Given the description of an element on the screen output the (x, y) to click on. 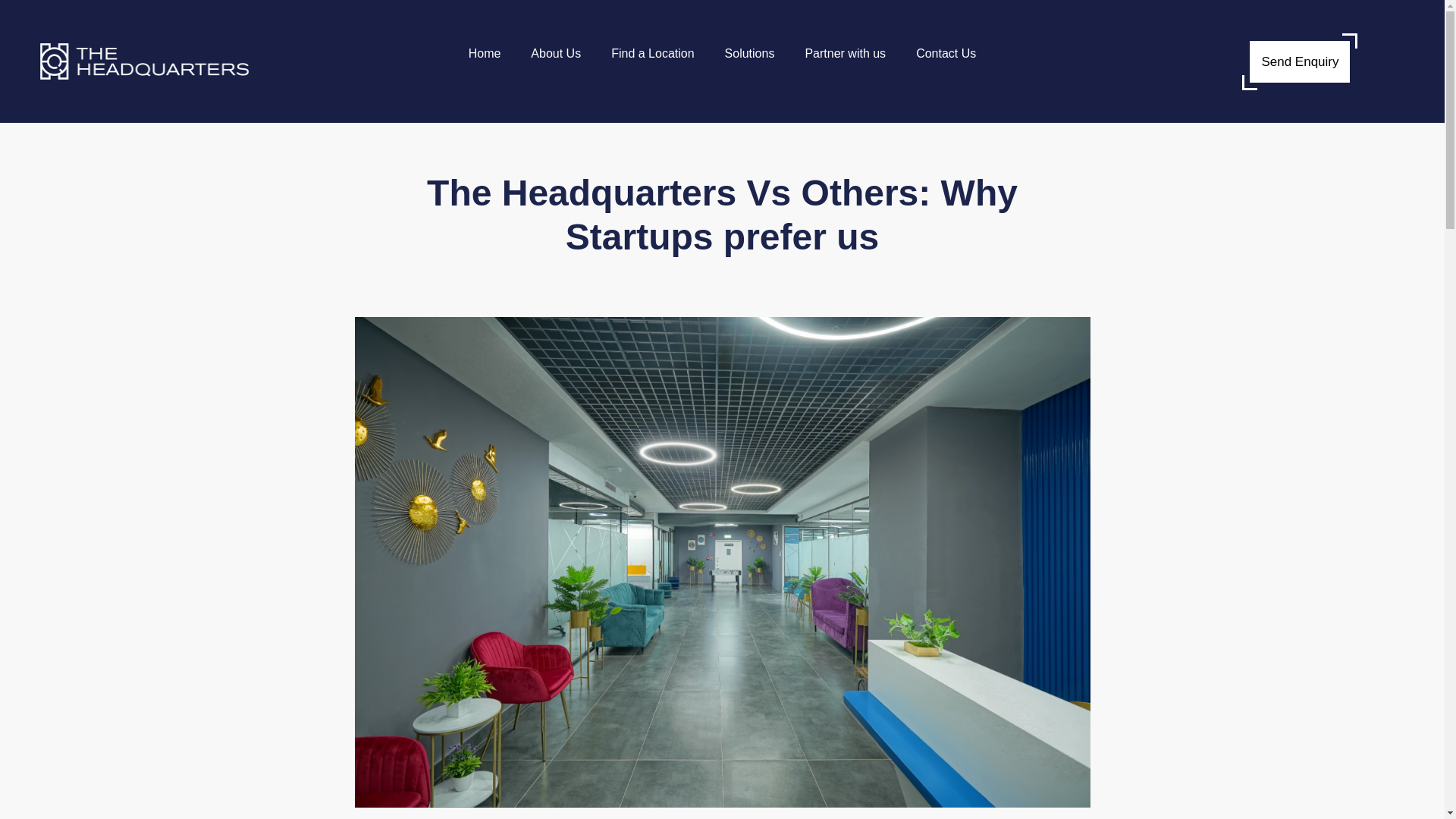
About Us (555, 53)
Send Enquiry (1299, 61)
Contact Us (946, 53)
Partner with us (845, 53)
Home (484, 53)
Find a Location (652, 53)
Solutions (750, 53)
